Given the description of an element on the screen output the (x, y) to click on. 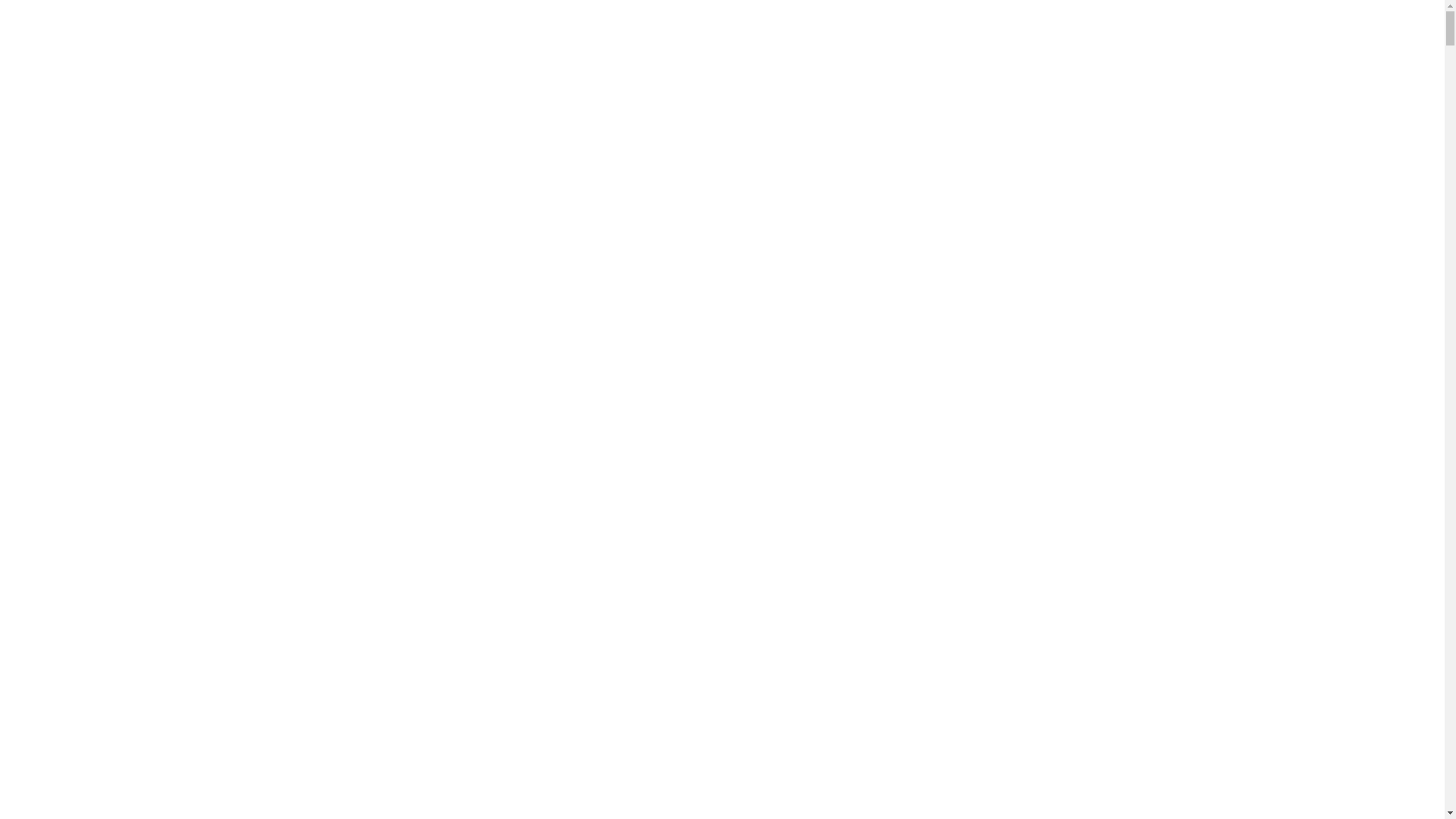
Home Element type: text (504, 64)
About Us Element type: text (820, 64)
FAQ Element type: text (871, 64)
0 Element type: text (1398, 63)
Contact Us Element type: text (928, 64)
Latest News Element type: text (748, 64)
How Do They Work? Element type: text (652, 64)
Shop Now Element type: text (562, 64)
